Given the description of an element on the screen output the (x, y) to click on. 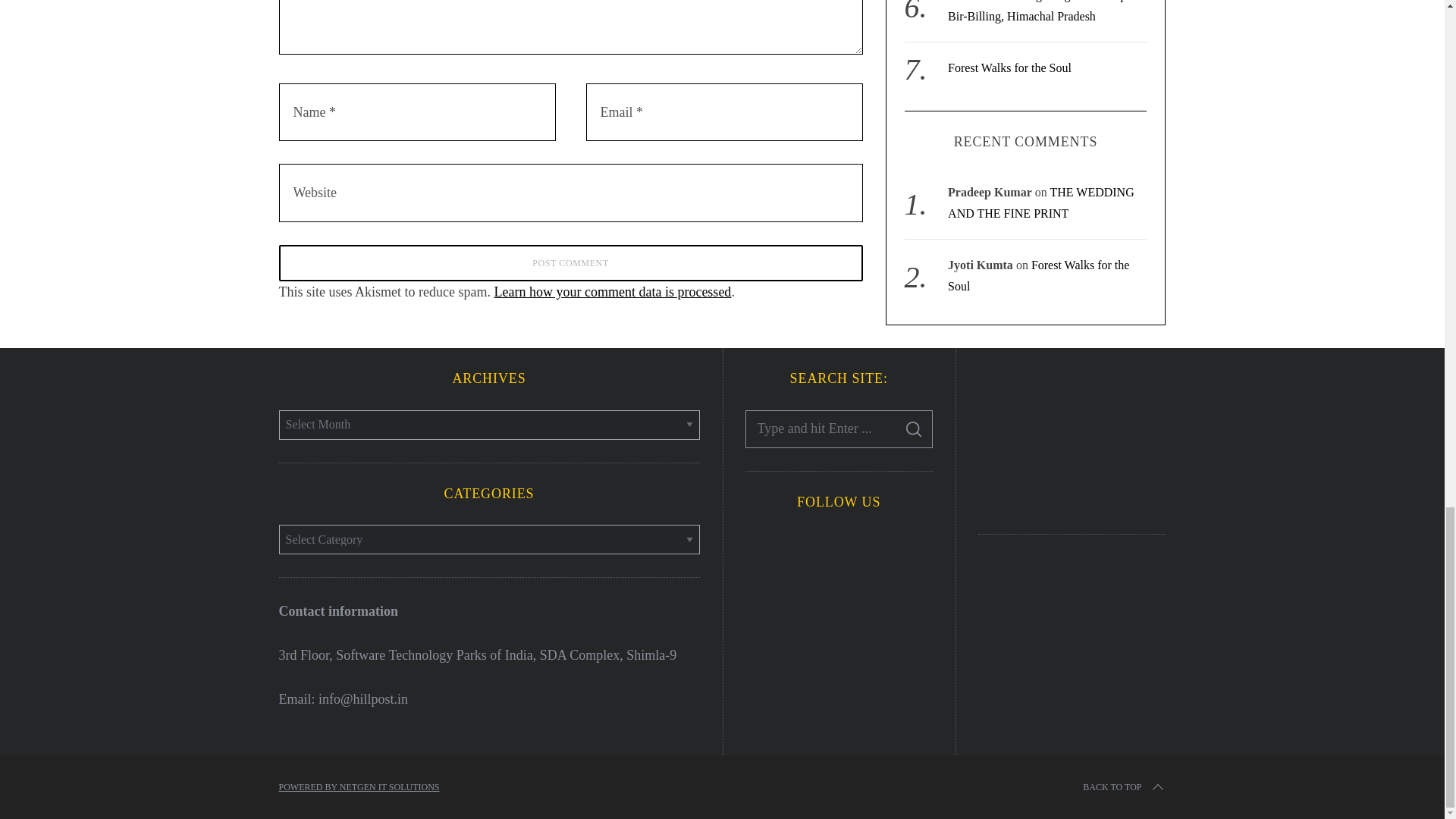
THE WEDDING AND THE FINE PRINT (1040, 32)
Post Comment (571, 262)
Learn how your comment data is processed (611, 291)
Forest Walks for the Soul (1038, 105)
SEARCH (914, 428)
PepupHome Best Home improvement blog 2020 (1072, 438)
Post Comment (571, 262)
